Given the description of an element on the screen output the (x, y) to click on. 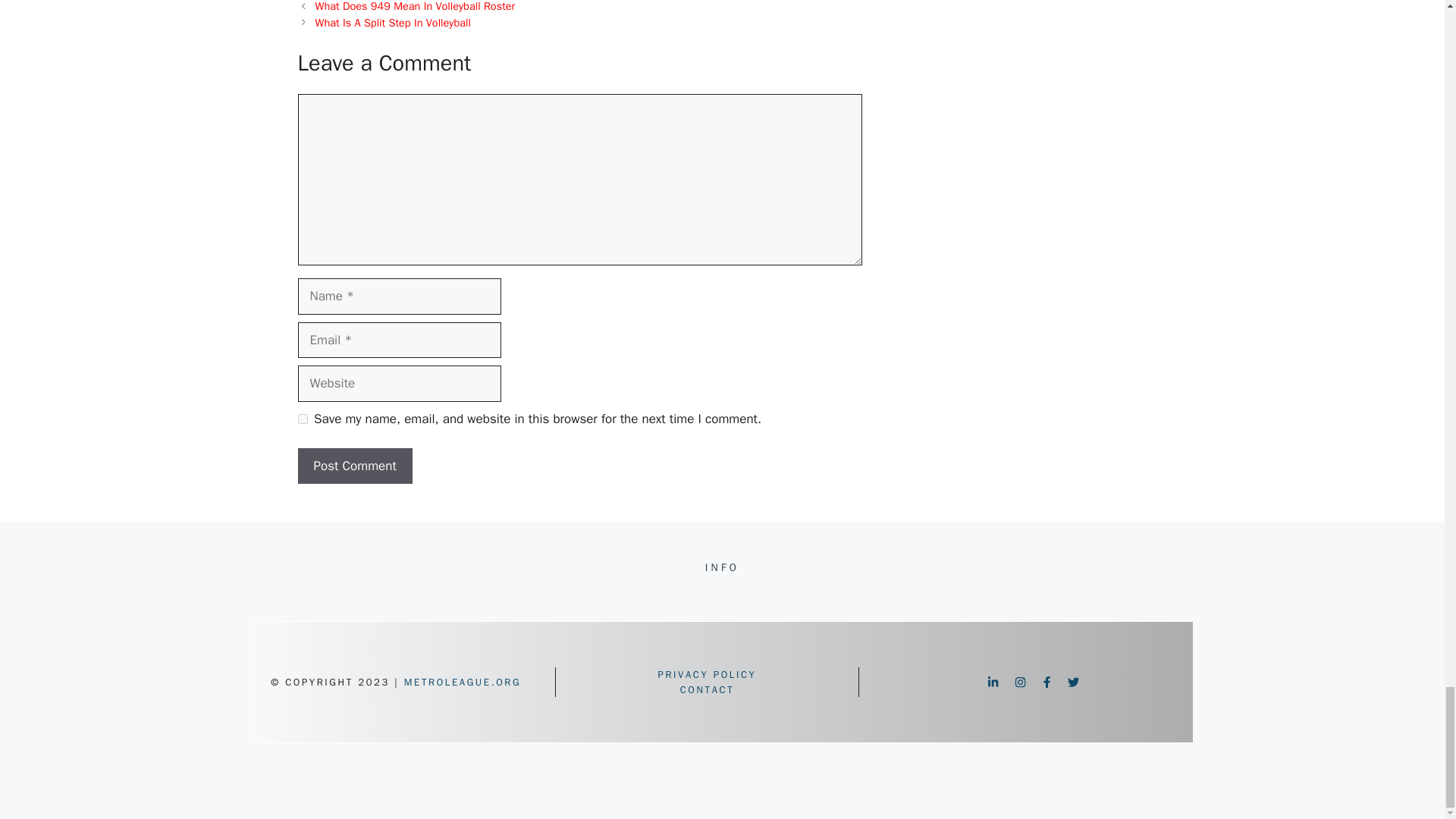
Post Comment (354, 465)
Post Comment (354, 465)
What Is A Split Step In Volleyball (392, 22)
yes (302, 419)
What Does 949 Mean In Volleyball Roster (415, 6)
